Given the description of an element on the screen output the (x, y) to click on. 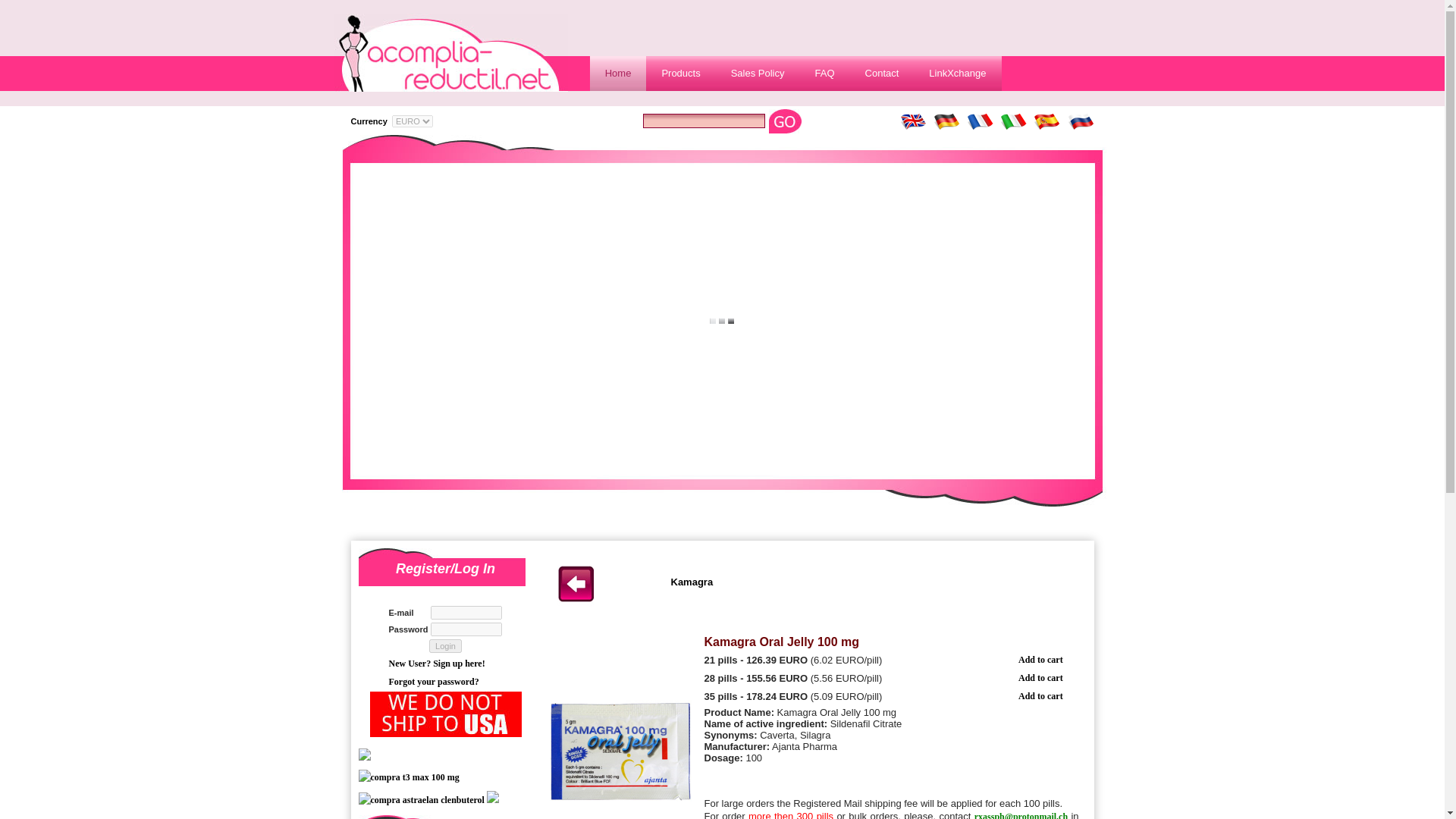
Login (445, 645)
Home (617, 73)
New User? Sign up here! (436, 663)
Login (445, 645)
LinkXchange (957, 73)
Sales Policy (757, 73)
Products (680, 73)
Contact (882, 73)
Kamagra (691, 582)
Add to cart (1039, 696)
